Given the description of an element on the screen output the (x, y) to click on. 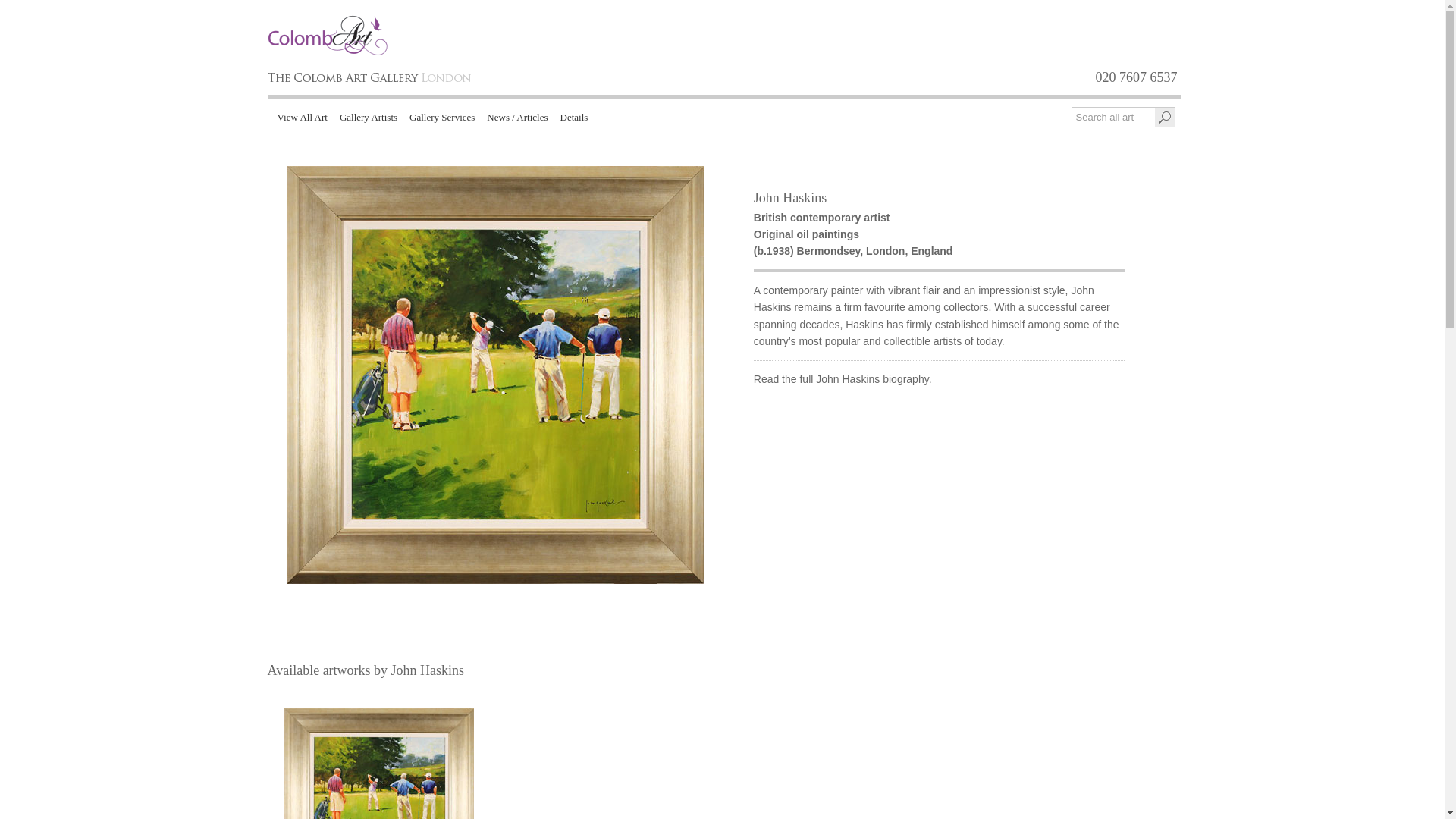
View All Art (301, 115)
Details (574, 115)
John Haskins (790, 197)
Gallery Artists (368, 115)
John Haskins biography. (873, 378)
Search all art  (1112, 116)
Gallery Services (441, 115)
Search all art  (1112, 116)
